Given the description of an element on the screen output the (x, y) to click on. 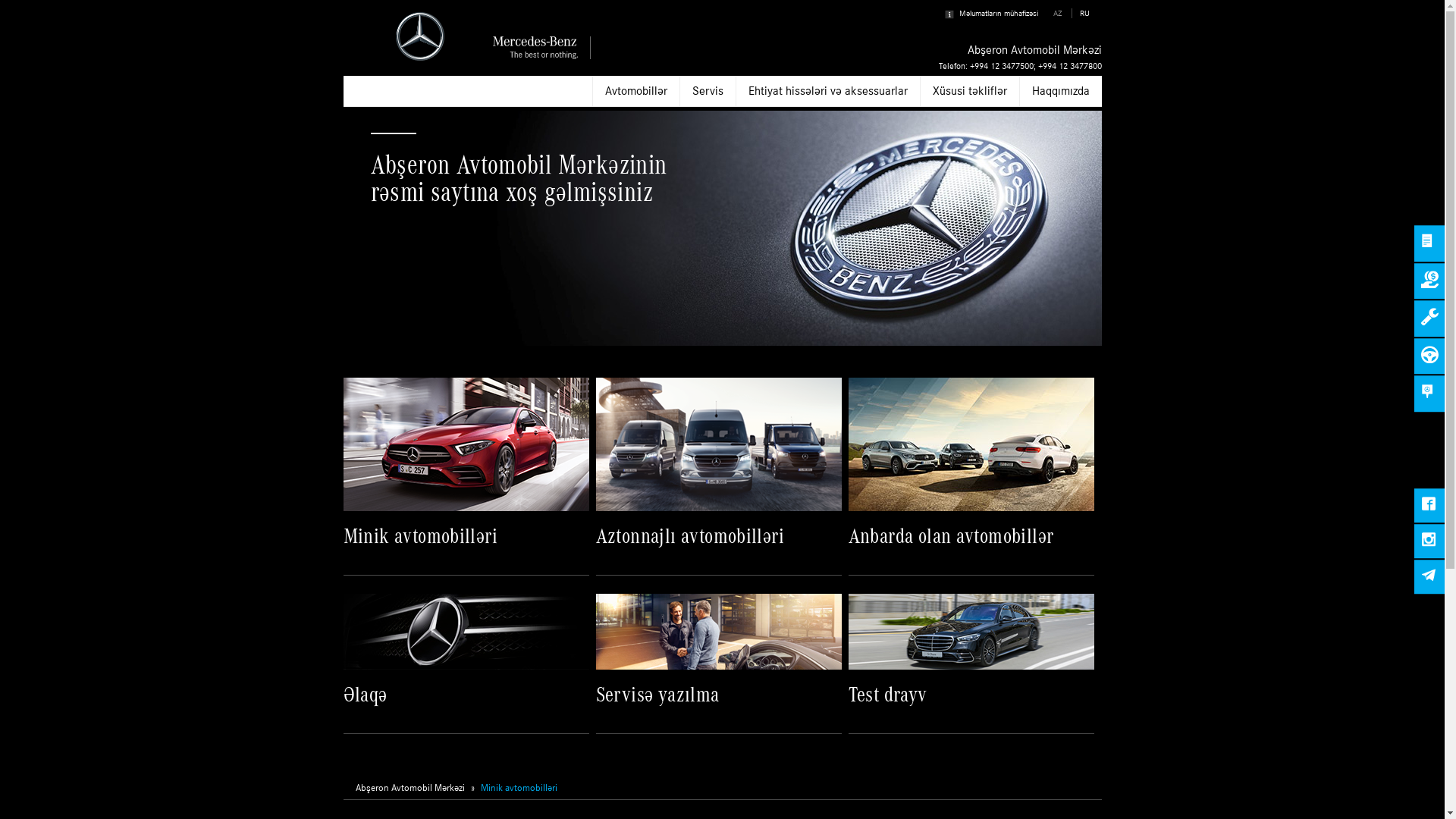
AZ Element type: text (1057, 13)
RU Element type: text (1084, 13)
Servis Element type: text (707, 90)
Test drayv Element type: text (970, 663)
